Given the description of an element on the screen output the (x, y) to click on. 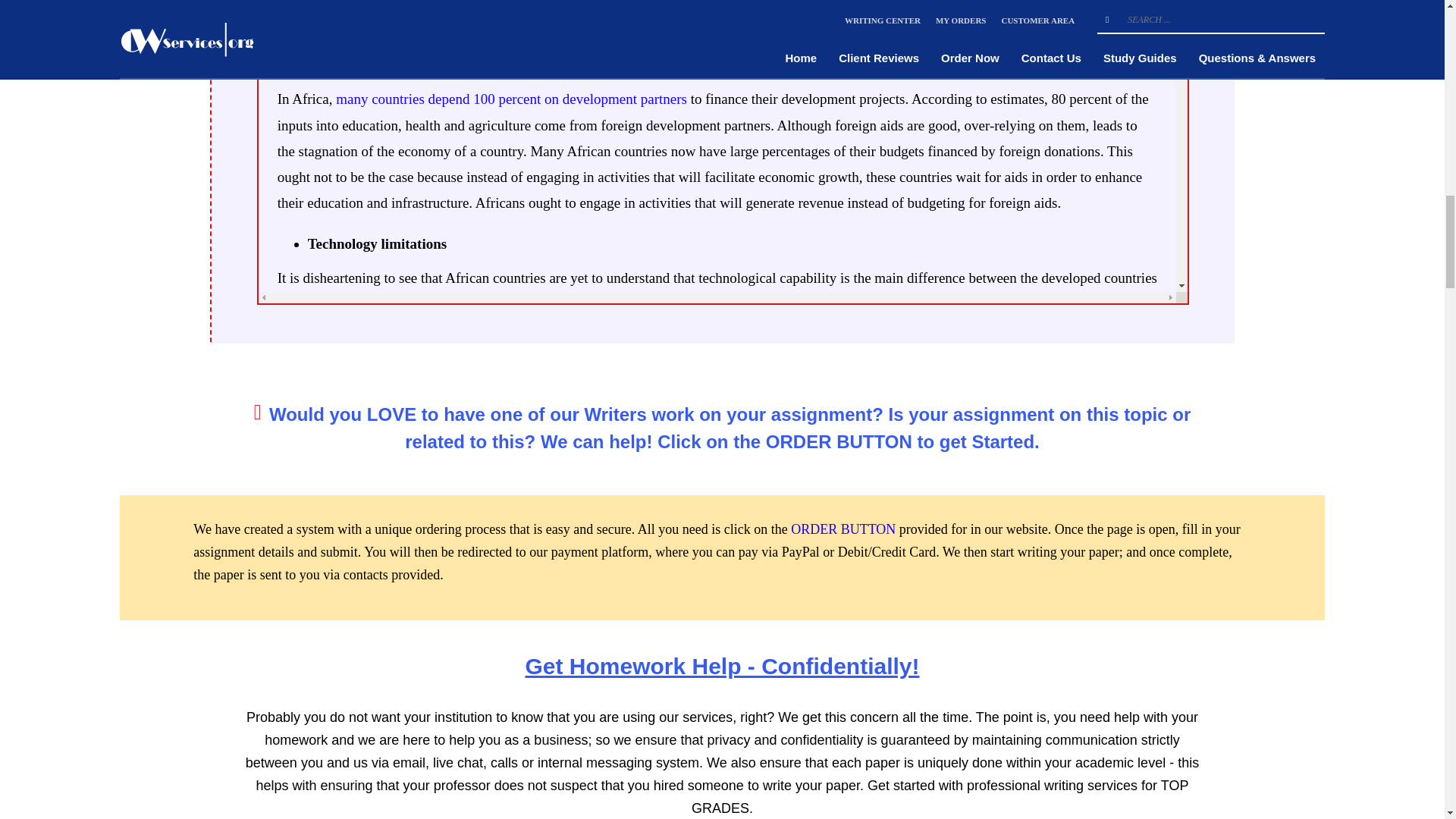
ORDER BUTTON (842, 529)
many countries depend 100 percent on development partners (511, 98)
